Given the description of an element on the screen output the (x, y) to click on. 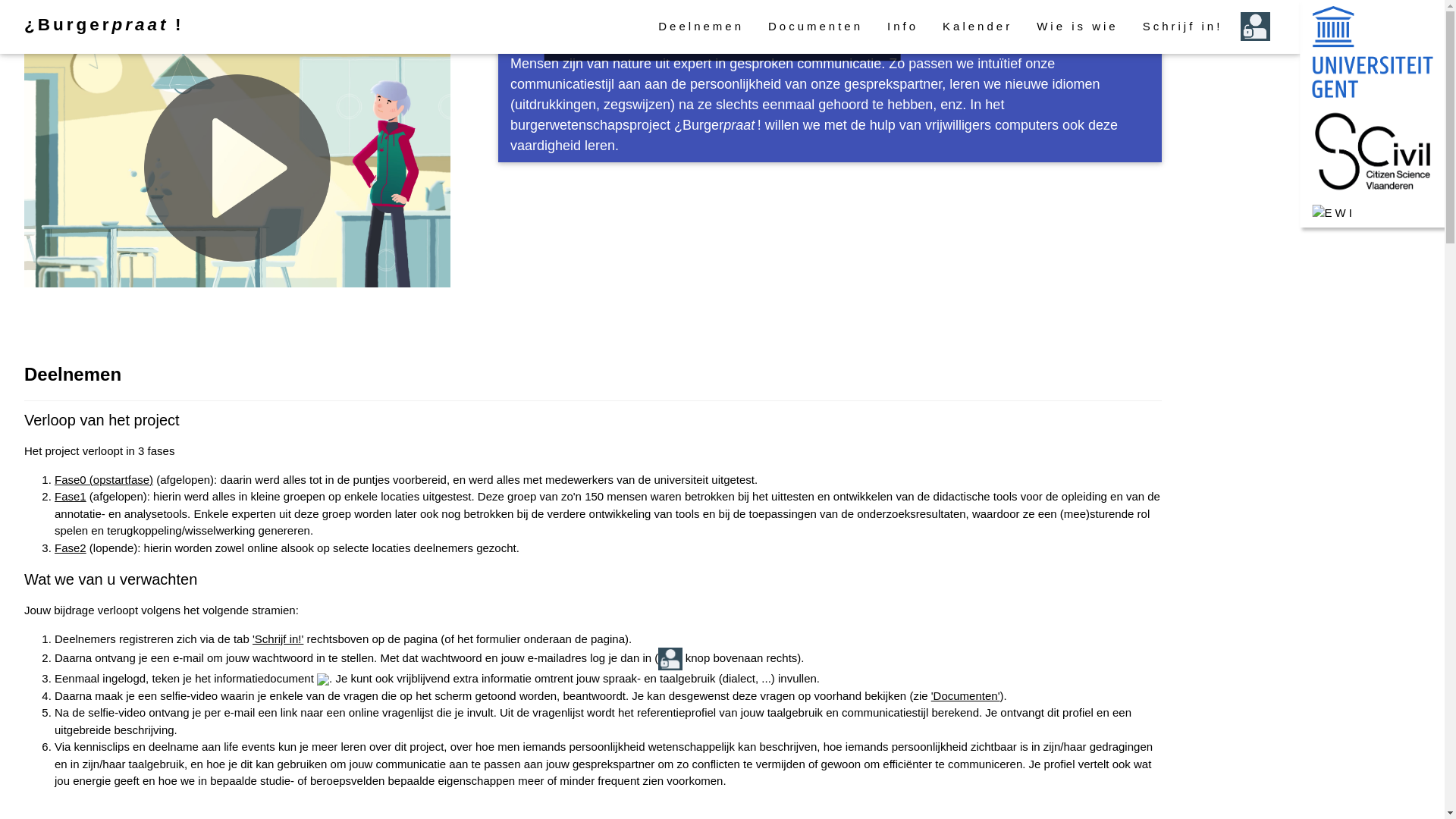
Kalender Element type: text (977, 26)
Wie is wie Element type: text (1077, 26)
'Schrijf in!' Element type: text (277, 638)
Schrijf in! Element type: text (1182, 26)
Documenten Element type: text (815, 26)
'Documenten' Element type: text (965, 695)
Deelnemen Element type: text (701, 26)
Info Element type: text (902, 26)
